Given the description of an element on the screen output the (x, y) to click on. 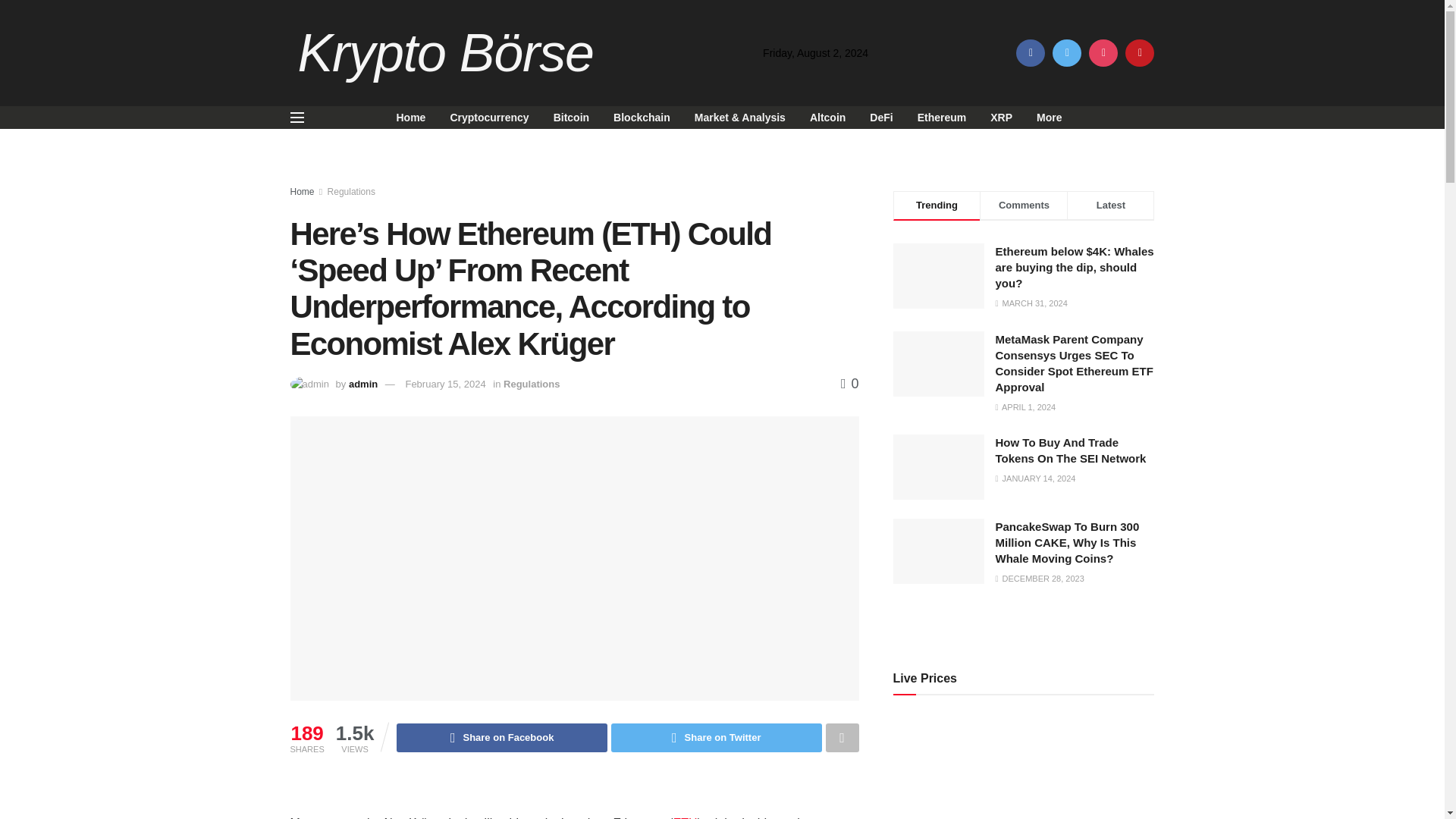
Share on Twitter (716, 737)
February 15, 2024 (444, 383)
0 (850, 383)
Ethereum (941, 117)
Regulations (531, 383)
admin (363, 383)
Regulations (351, 191)
Home (301, 191)
Cryptocurrency (489, 117)
Home (411, 117)
Share on Facebook (501, 737)
ETH (684, 817)
Altcoin (827, 117)
Blockchain (641, 117)
Bitcoin (571, 117)
